Given the description of an element on the screen output the (x, y) to click on. 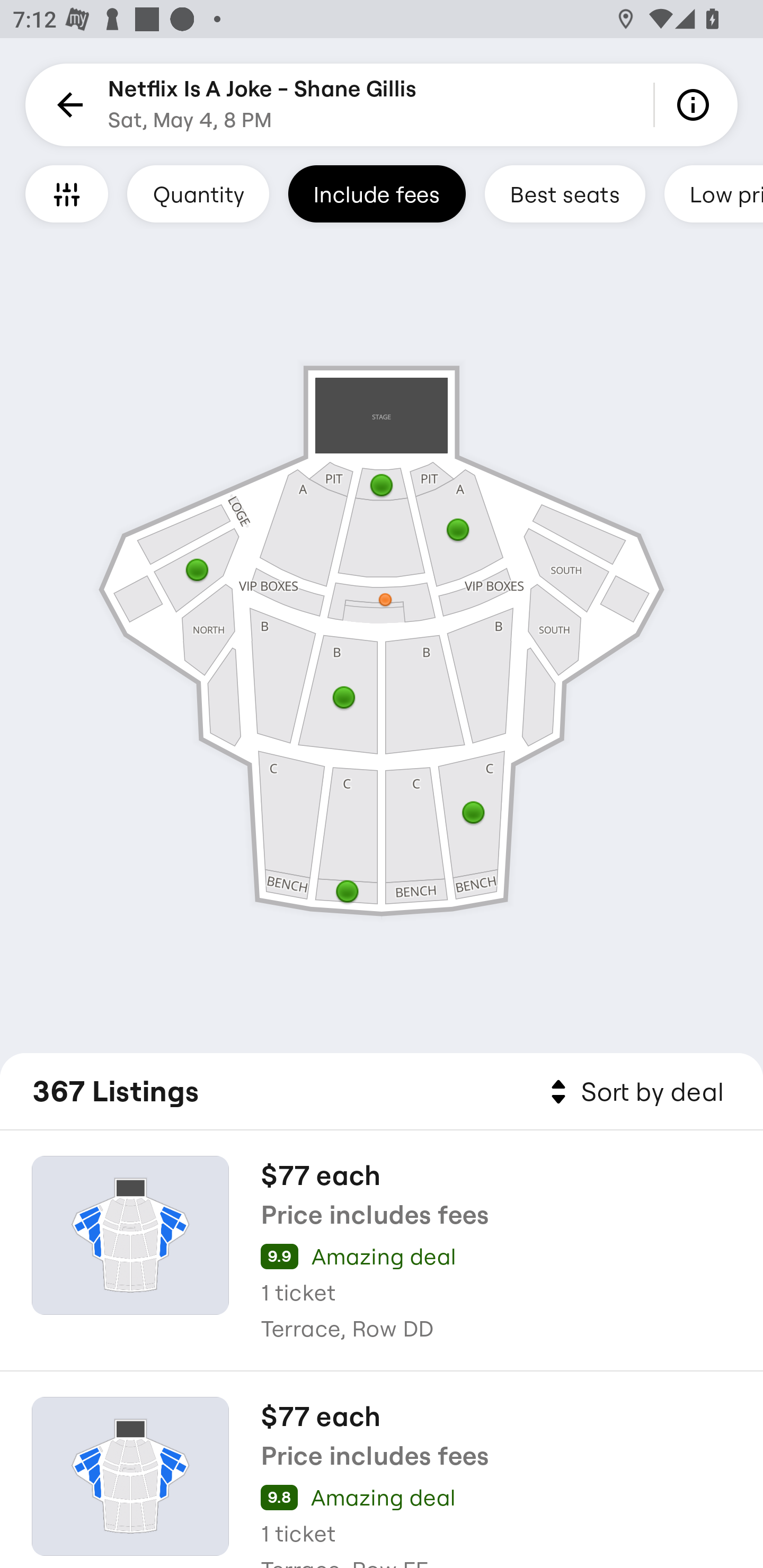
Back (66, 104)
Netflix Is A Joke - Shane Gillis Sat, May 4, 8 PM (262, 104)
Info (695, 104)
Filters and Accessible Seating (66, 193)
Quantity (198, 193)
Include fees (376, 193)
Best seats (564, 193)
Low prices (713, 193)
Sort by deal (633, 1091)
